Given the description of an element on the screen output the (x, y) to click on. 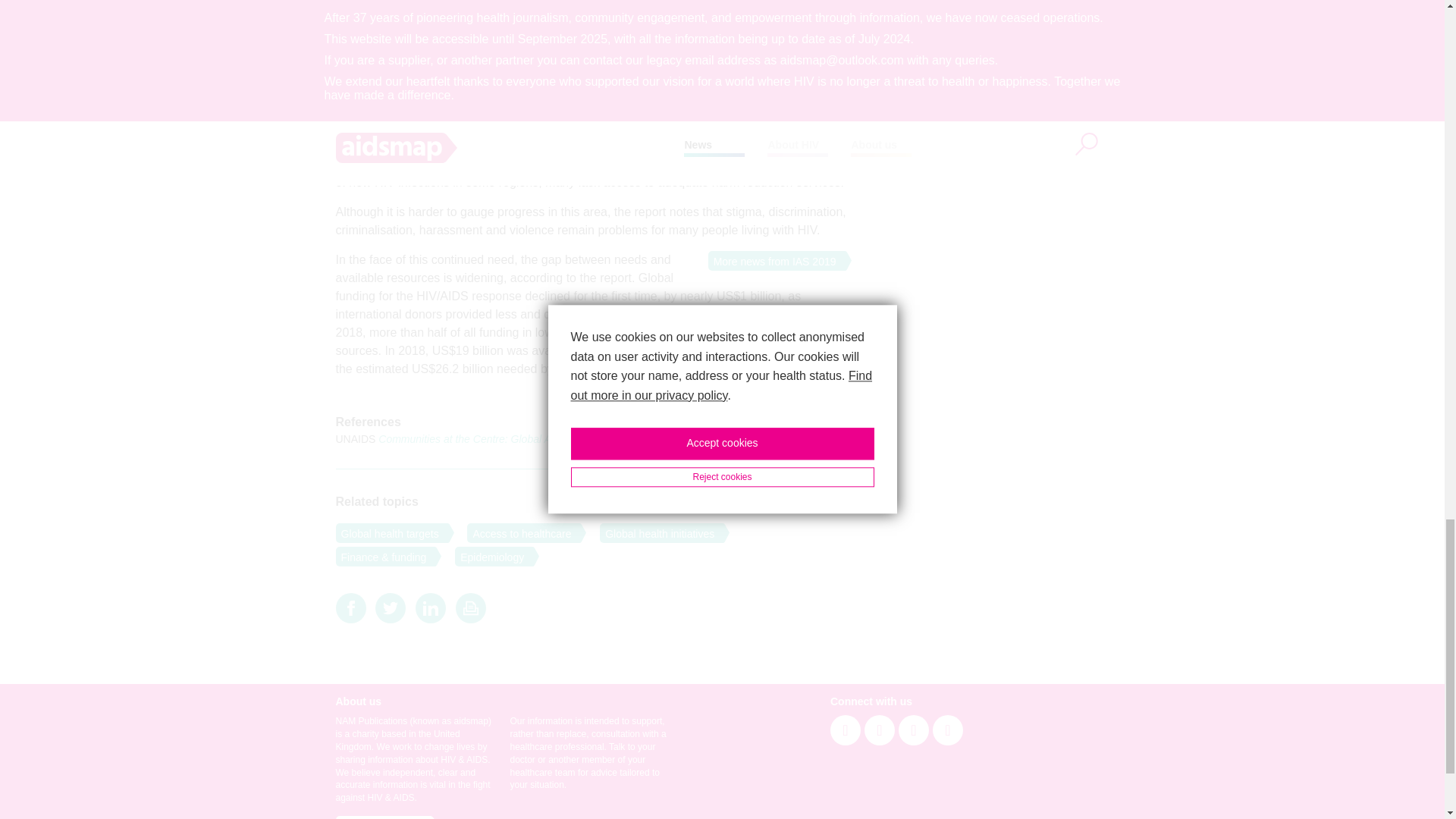
Facebook (349, 607)
Twitter (390, 607)
Epidemiology (489, 556)
Access to healthcare (518, 532)
Print (470, 607)
Global health initiatives (656, 532)
Global health targets (386, 532)
LinkedIn (429, 607)
Communities at the Centre: Global AIDS Update 2019 (504, 439)
More news from IAS 2019 (771, 260)
